Given the description of an element on the screen output the (x, y) to click on. 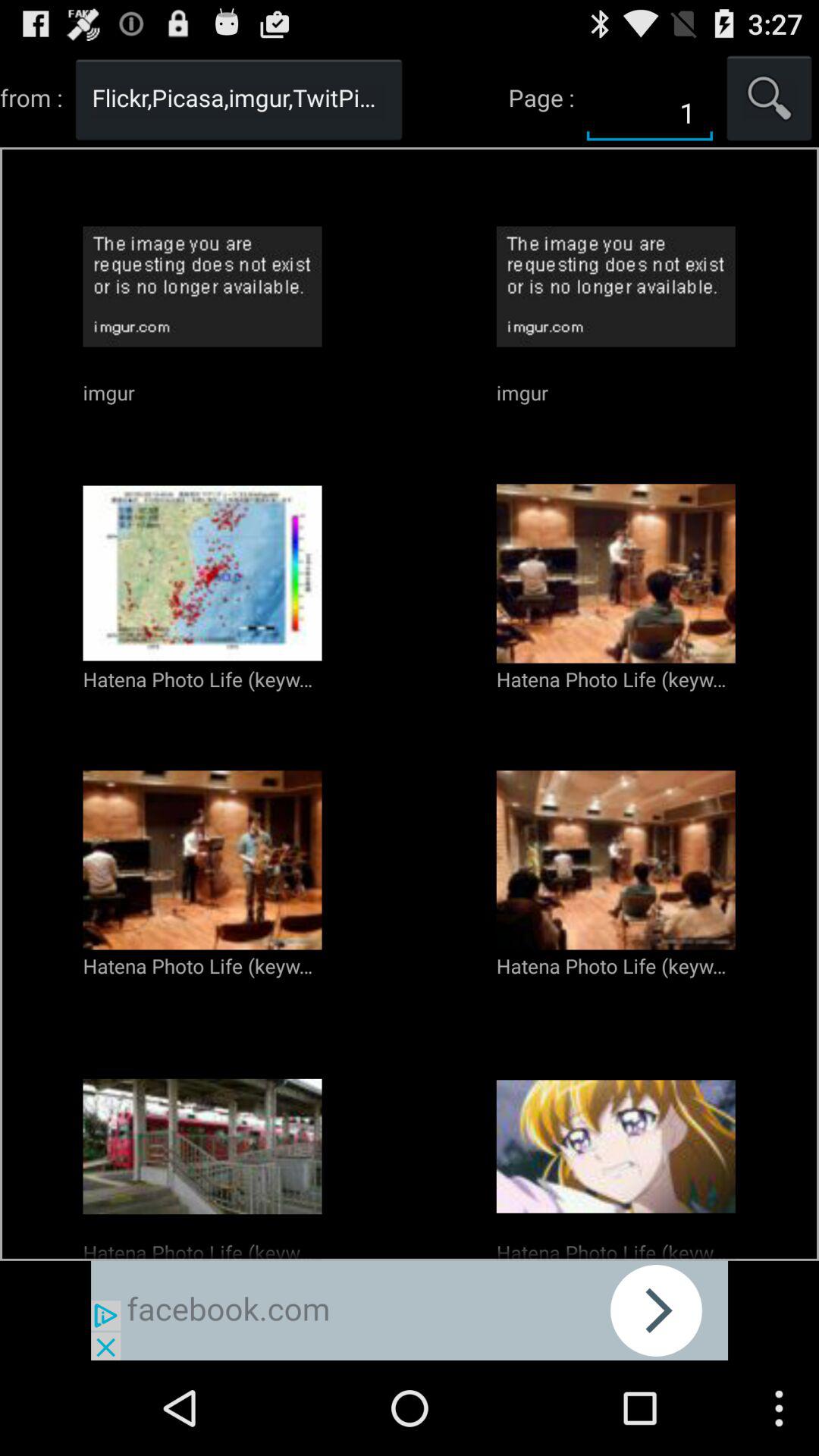
space where you access advertising (409, 1310)
